Given the description of an element on the screen output the (x, y) to click on. 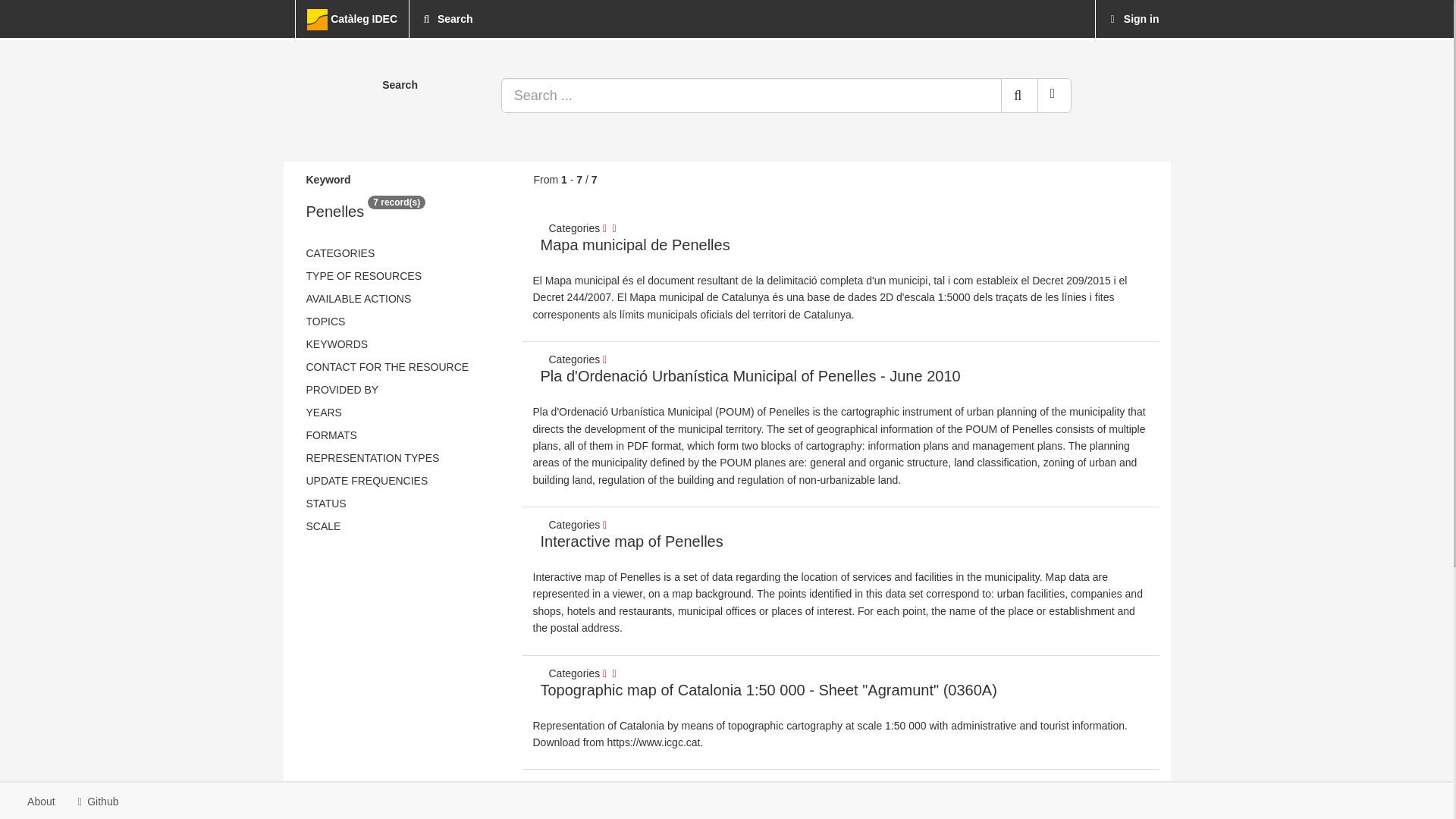
Search (446, 18)
  Sign in (1133, 18)
  Search (446, 18)
Sign in (1133, 18)
Search (1019, 95)
Reset (1053, 95)
